Given the description of an element on the screen output the (x, y) to click on. 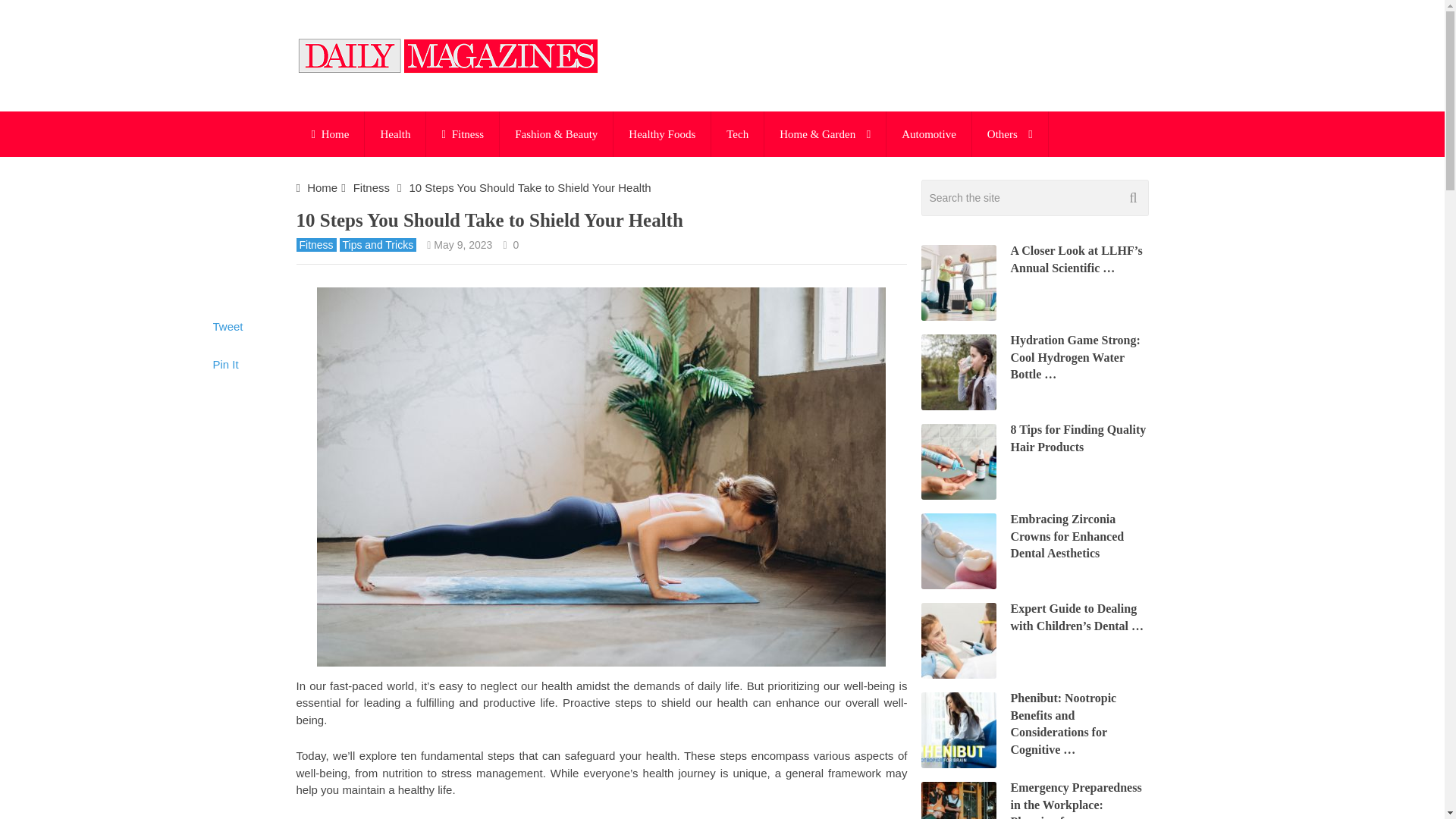
View all posts in Tips and Tricks (377, 244)
Fitness (315, 244)
View all posts in Fitness (315, 244)
Others (1010, 134)
Fitness (462, 134)
Health (395, 134)
Tech (736, 134)
Home (322, 187)
Healthy Foods (661, 134)
Tweet (227, 326)
Pin It (225, 364)
Home (329, 134)
Automotive (928, 134)
Fitness (371, 187)
Tips and Tricks (377, 244)
